Given the description of an element on the screen output the (x, y) to click on. 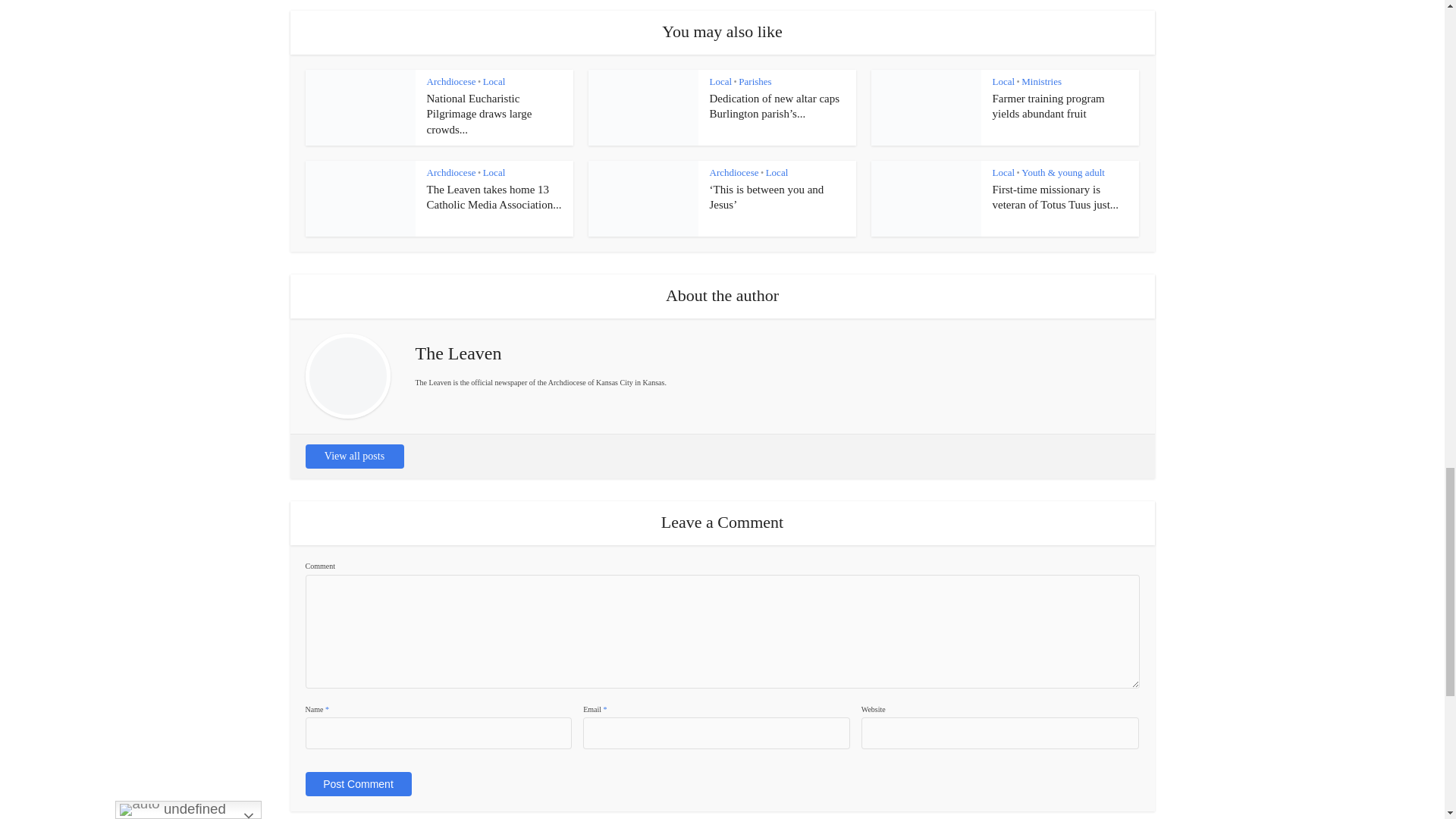
Post Comment (357, 784)
The Leaven takes home 13 Catholic Media Association awards (493, 196)
Farmer training program yields abundant fruit (1047, 105)
